Given the description of an element on the screen output the (x, y) to click on. 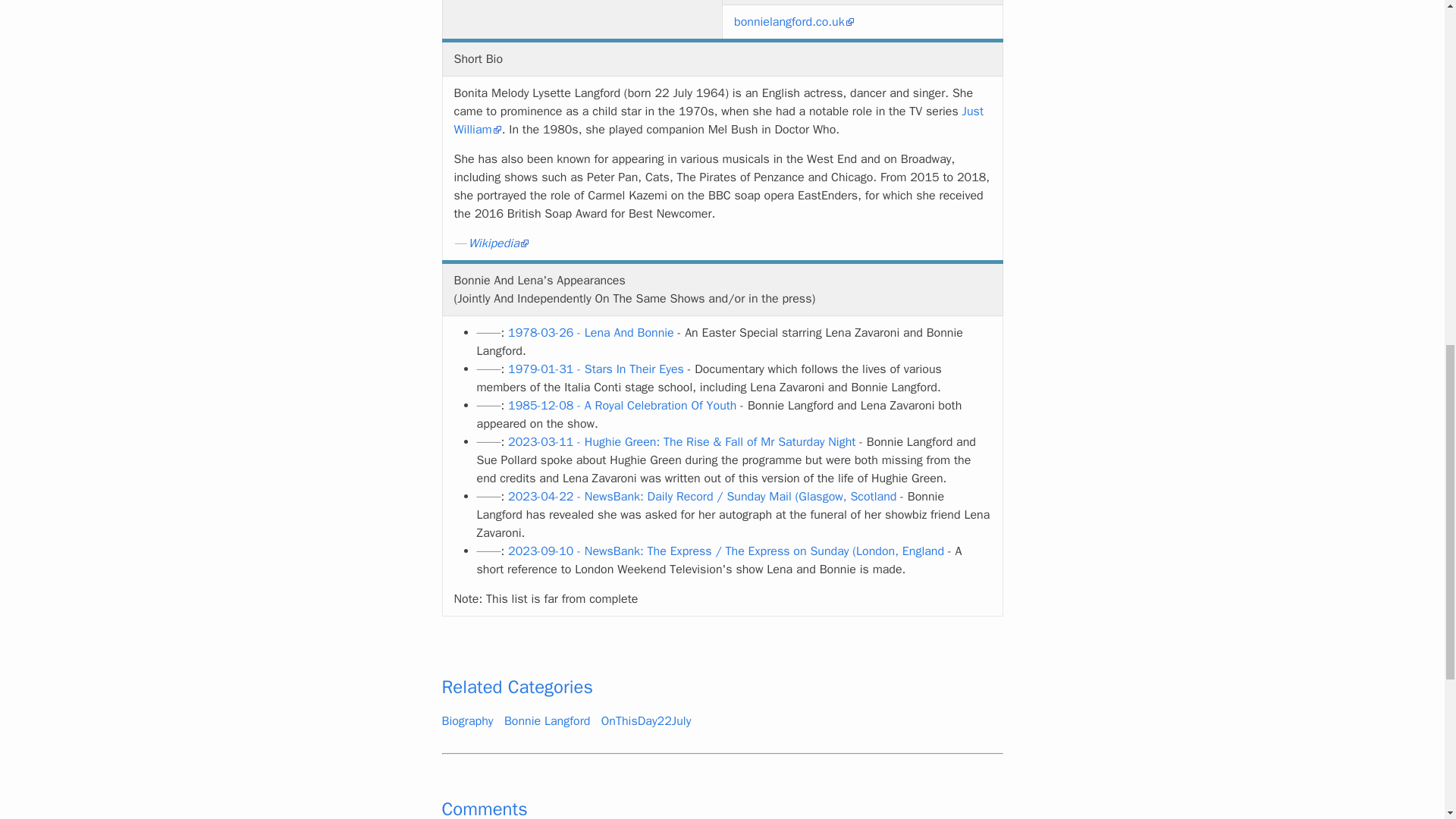
Just William (718, 120)
1985-12-08 - A Royal Celebration Of Youth (622, 405)
1979-01-31 - Stars In Their Eyes (596, 368)
Bonnie Langford (546, 720)
bonnielangford.co.uk (793, 21)
Comments (484, 808)
Wikipedia (498, 242)
1978-03-26 - Lena And Bonnie (591, 332)
Related Categories (516, 686)
OnThisDay22July (646, 720)
Biography (467, 720)
